Given the description of an element on the screen output the (x, y) to click on. 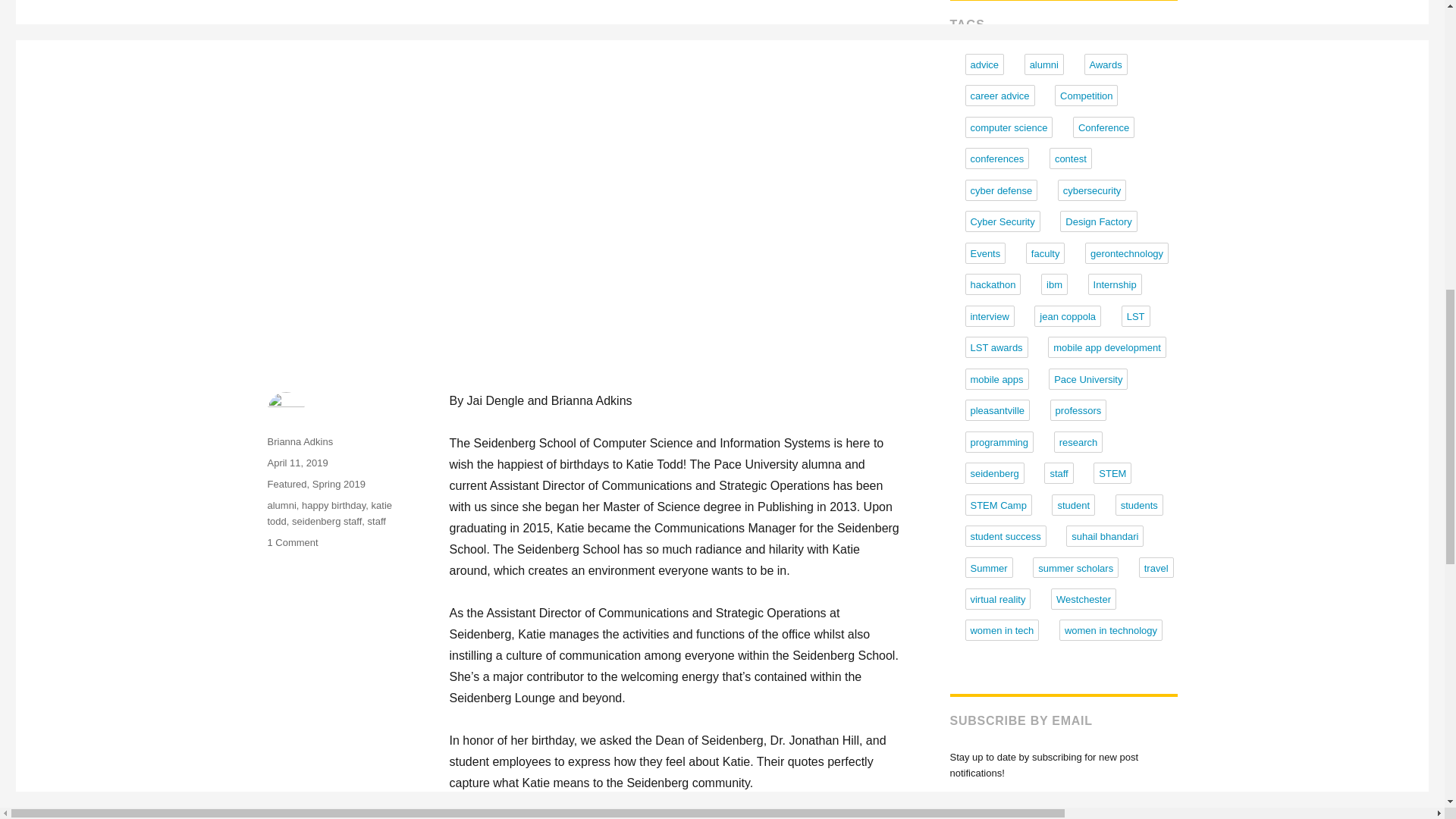
Design Factory (1098, 220)
seidenberg staff (326, 521)
katie todd (328, 513)
Competition (1086, 95)
Awards (1105, 64)
April 11, 2019 (296, 462)
faculty (1045, 252)
Featured (285, 483)
computer science (1007, 127)
alumni (280, 505)
